Given the description of an element on the screen output the (x, y) to click on. 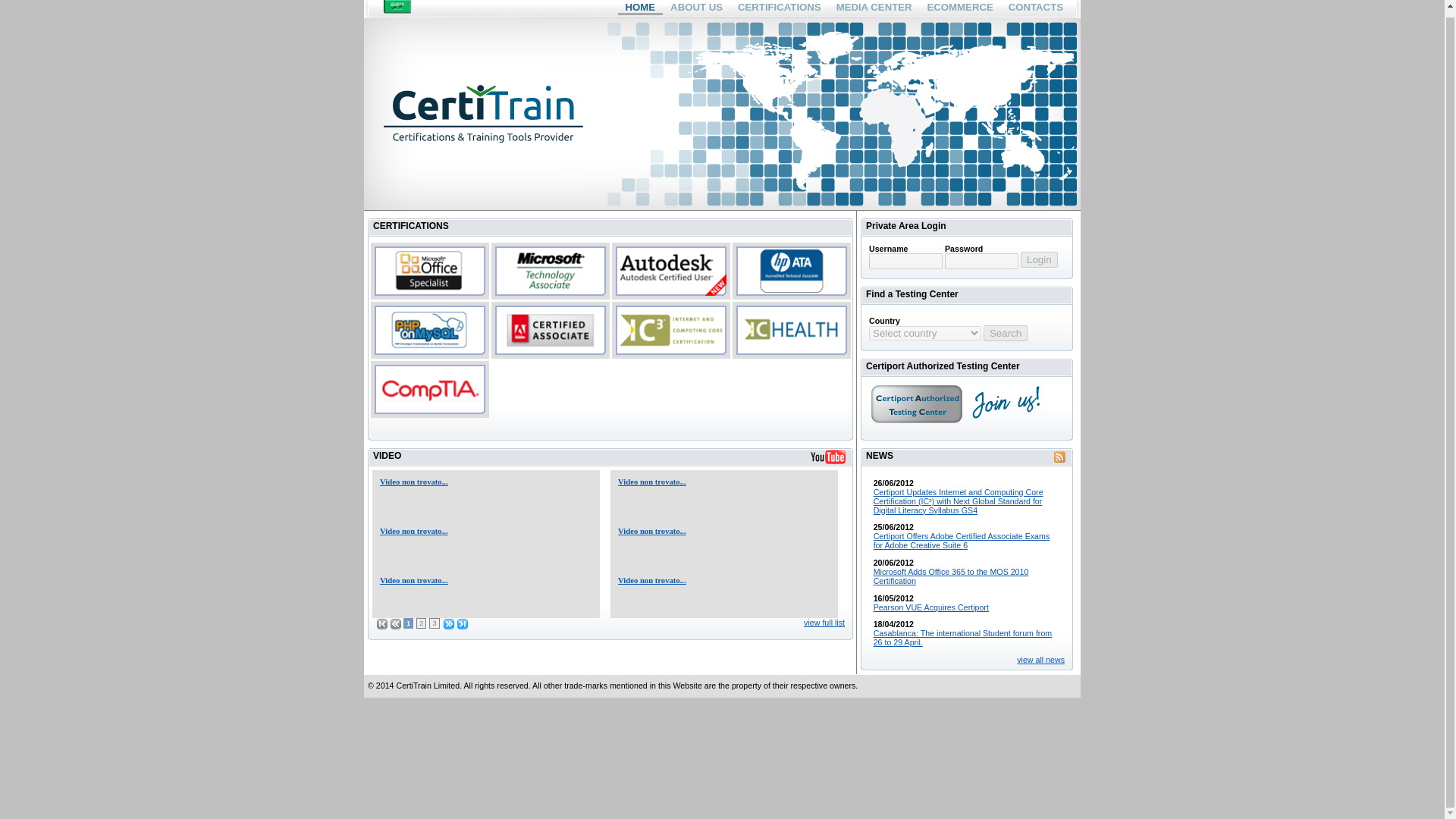
Video non trovato... (651, 531)
Search (1005, 333)
ABOUT US (696, 7)
2 (421, 623)
CERTIFICATIONS (779, 7)
Video non trovato... (651, 481)
CONTACTS (1035, 7)
Video non trovato... (414, 580)
Video non trovato... (651, 580)
ECOMMERCE (960, 7)
view full list (823, 622)
Video non trovato... (414, 531)
Login (1039, 259)
Login (1039, 259)
3 (434, 623)
